Given the description of an element on the screen output the (x, y) to click on. 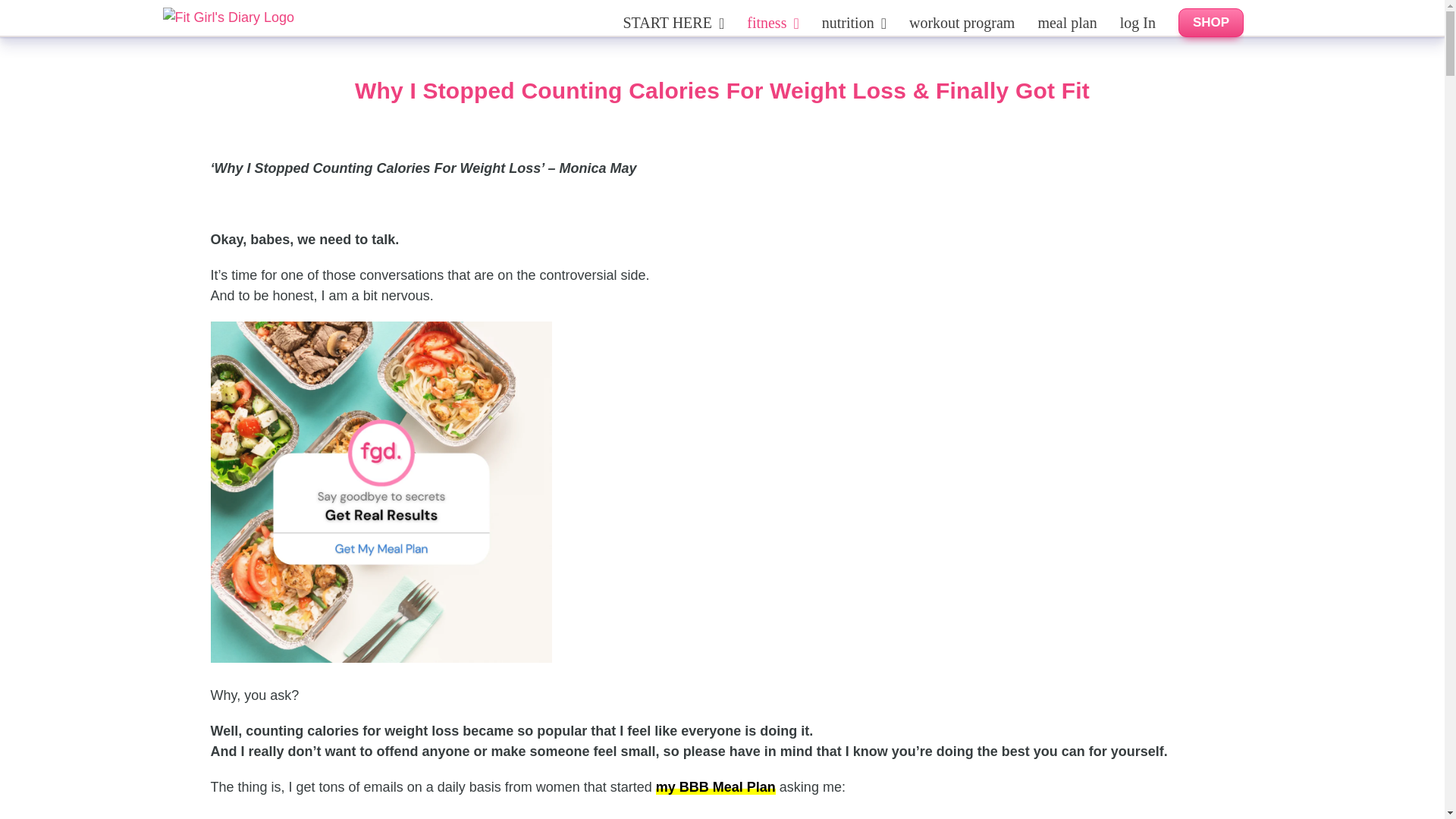
meal plan (1066, 22)
SHOP (1210, 22)
nutrition (854, 22)
fitness (772, 22)
START HERE (674, 22)
workout program (961, 22)
